Given the description of an element on the screen output the (x, y) to click on. 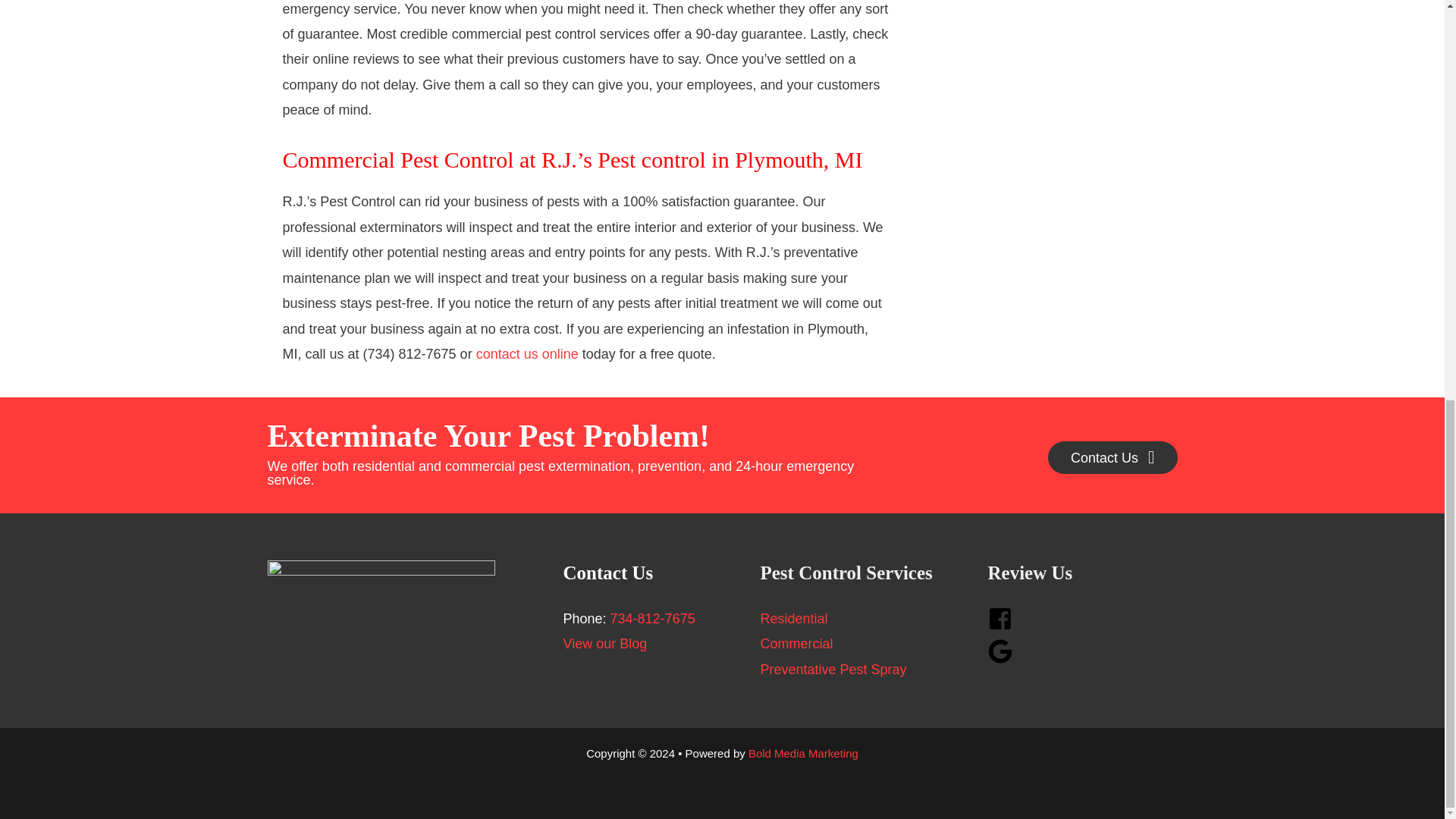
Click Here (1112, 457)
